Given the description of an element on the screen output the (x, y) to click on. 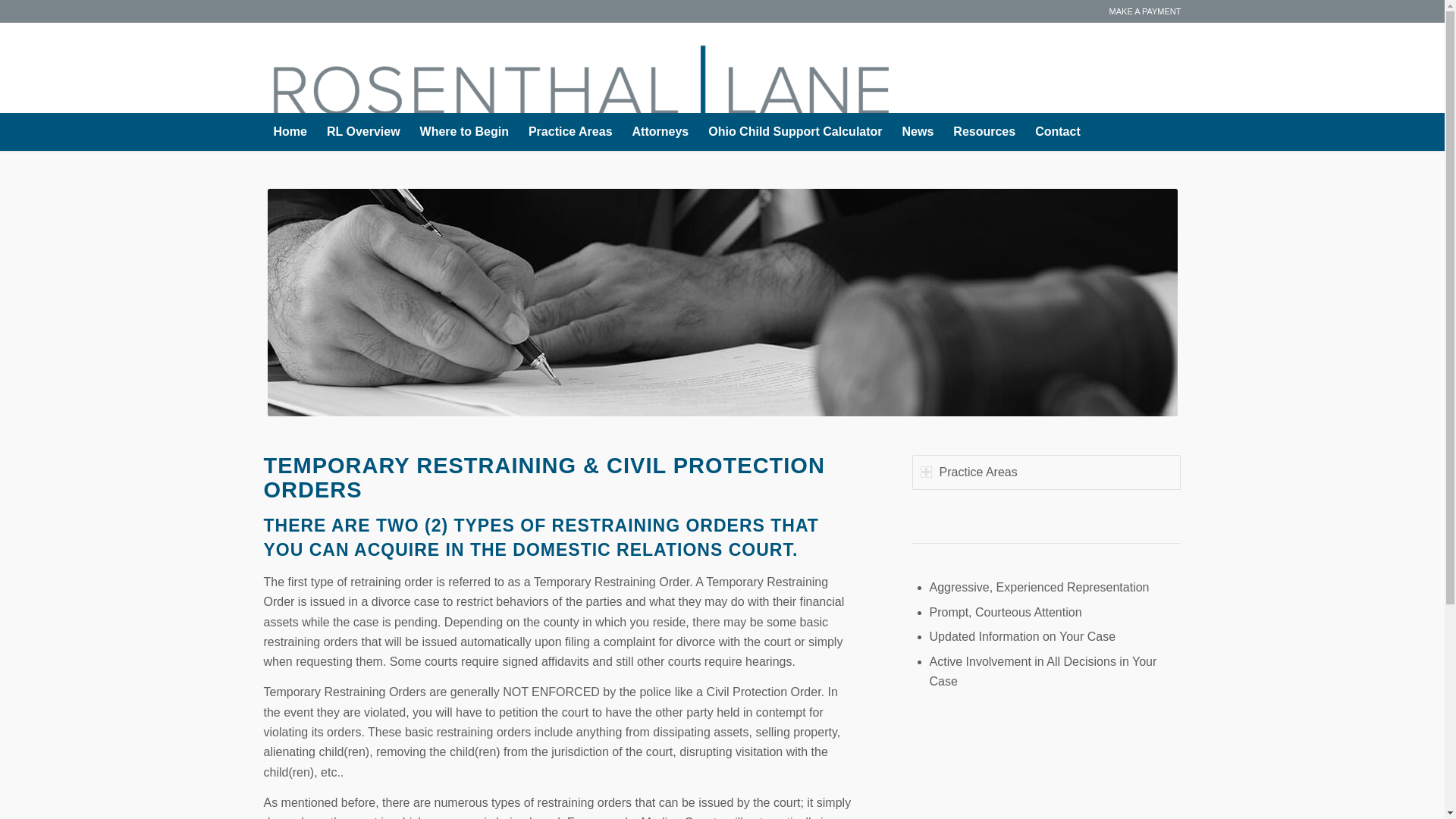
Contact (1057, 131)
Practice Areas (570, 131)
Resources (984, 131)
Where to Begin (464, 131)
RL Overview (363, 131)
Attorneys (660, 131)
Ohio Child Support Calculator (794, 131)
Home (290, 131)
News (917, 131)
MAKE A PAYMENT (1144, 11)
